Given the description of an element on the screen output the (x, y) to click on. 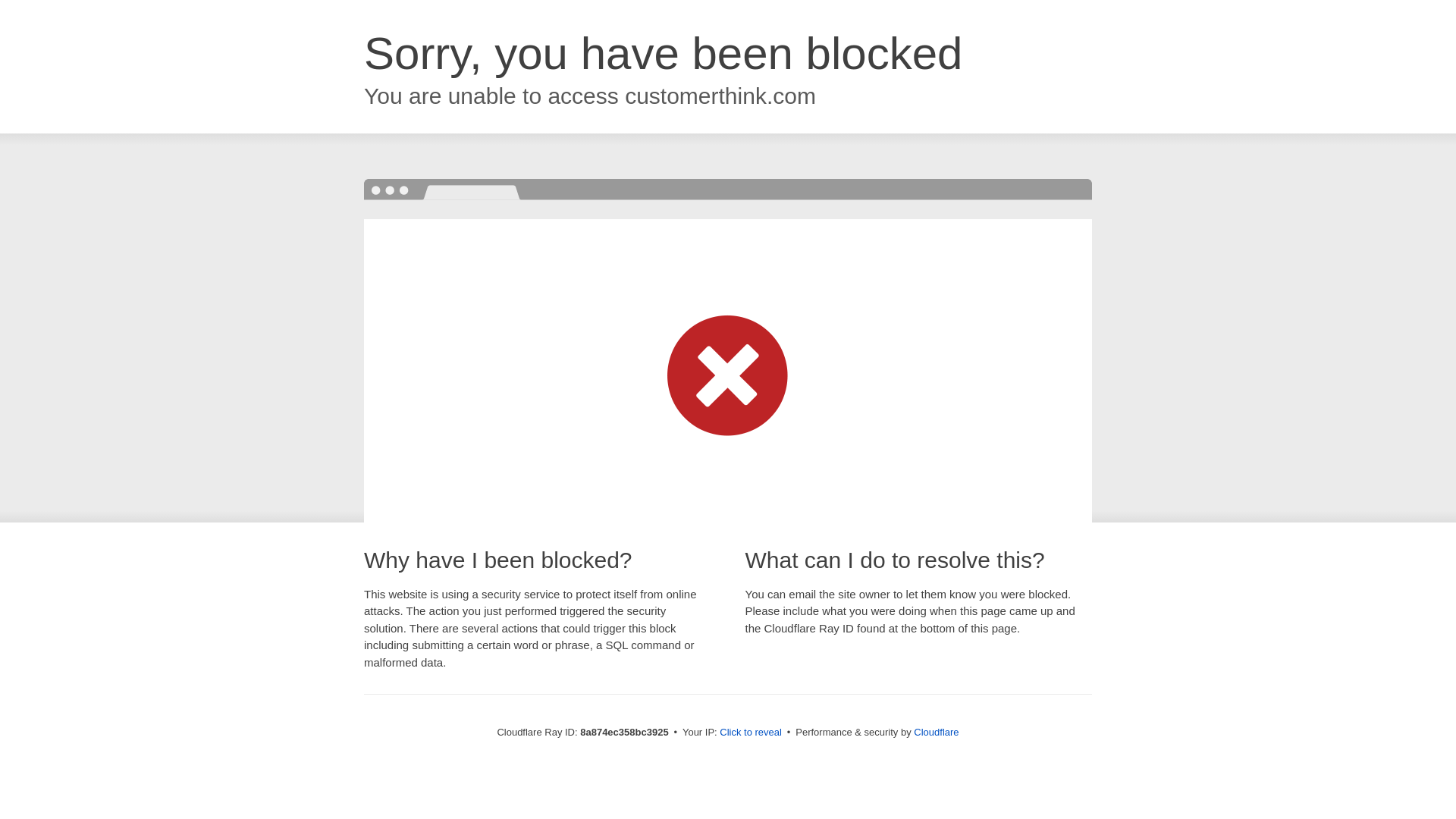
Click to reveal (750, 732)
Cloudflare (936, 731)
